Given the description of an element on the screen output the (x, y) to click on. 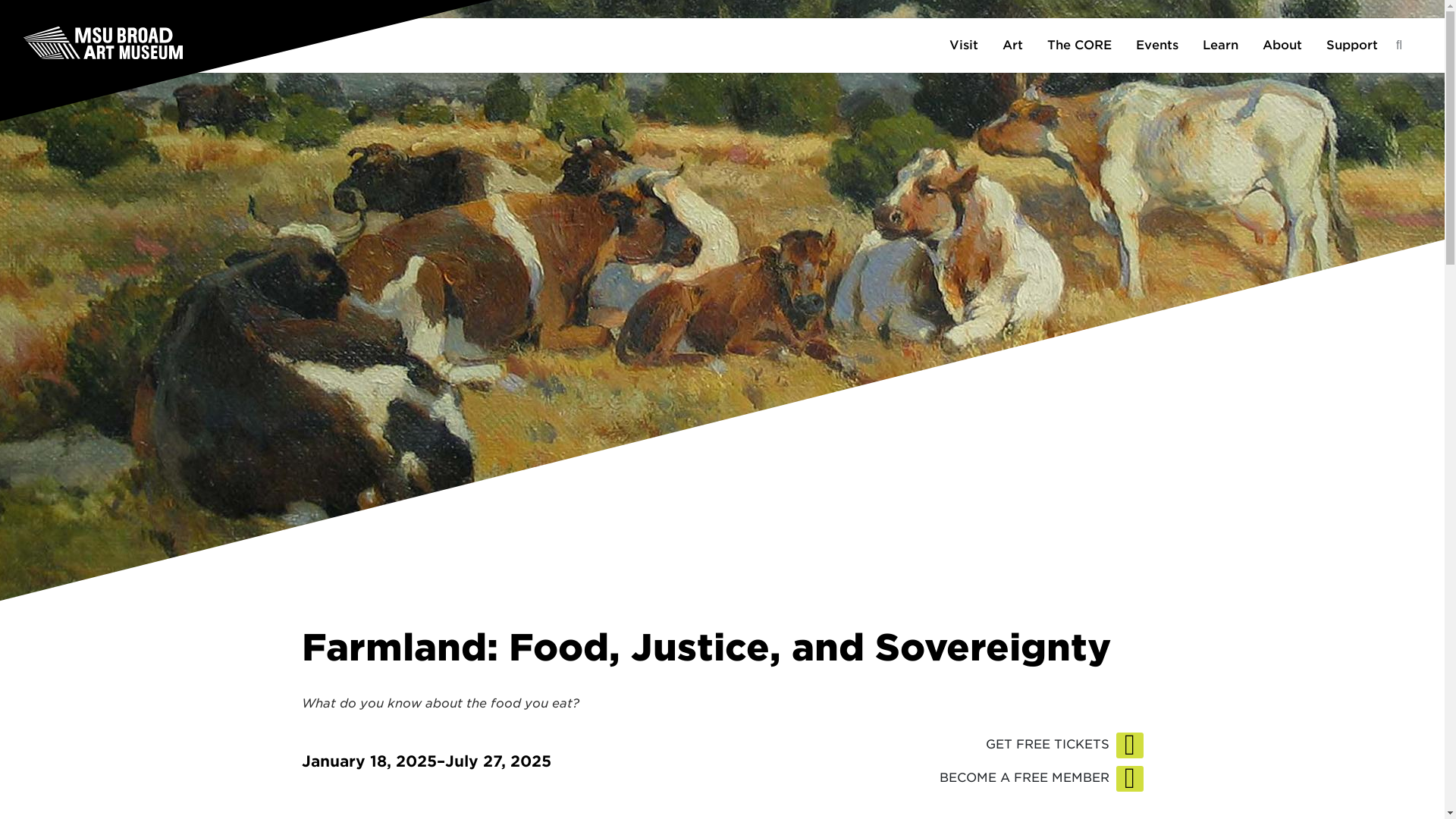
Events (1157, 45)
Support (1352, 45)
The CORE (1079, 45)
Learn (1220, 45)
About (1282, 45)
BECOME A FREE MEMBER (1036, 777)
GET FREE TICKETS (1059, 744)
Visit (963, 45)
MSU Broad Art Museum (151, 41)
